Given the description of an element on the screen output the (x, y) to click on. 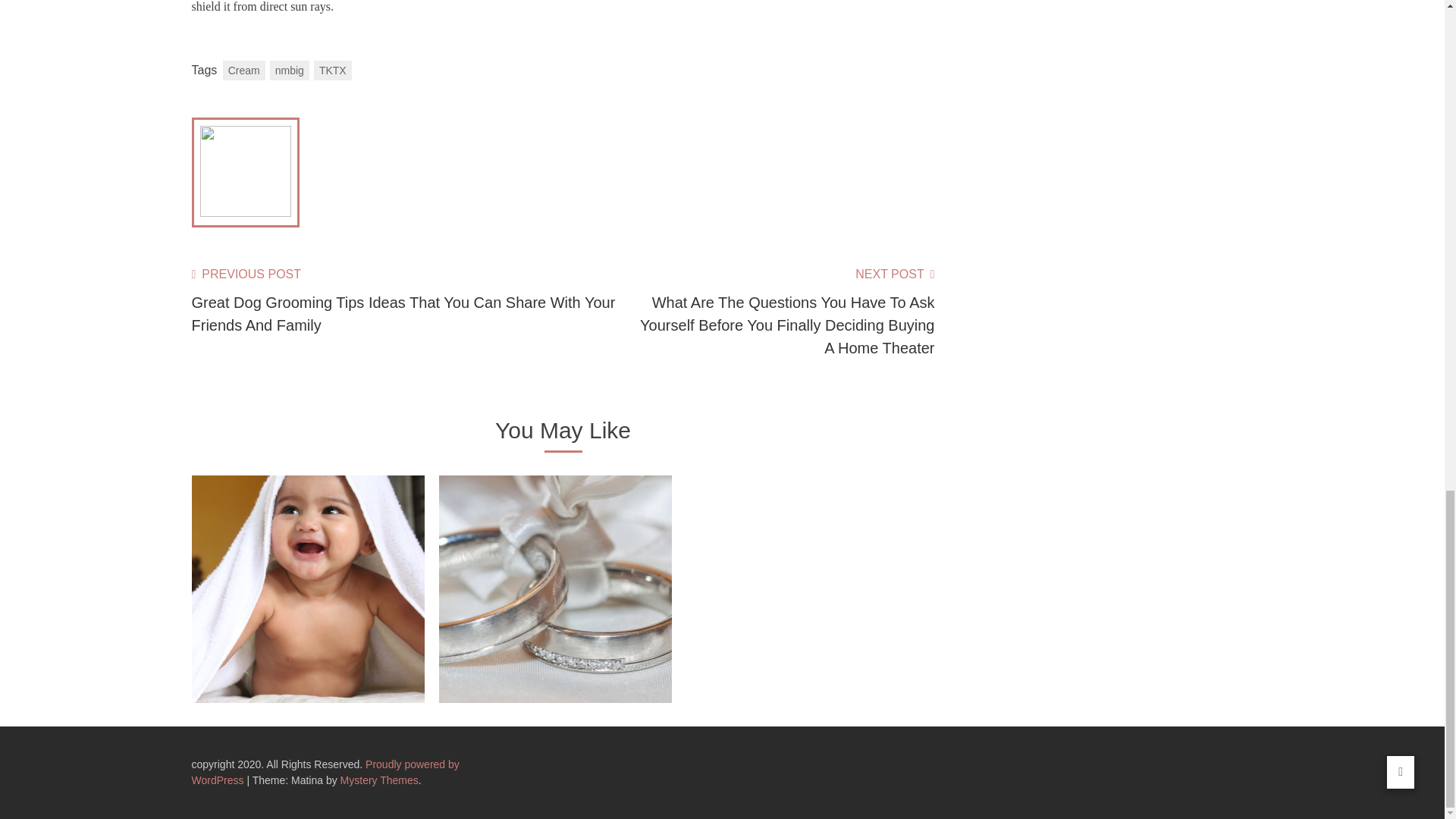
TKTX (333, 70)
nmbig (288, 70)
Cream (243, 70)
